Given the description of an element on the screen output the (x, y) to click on. 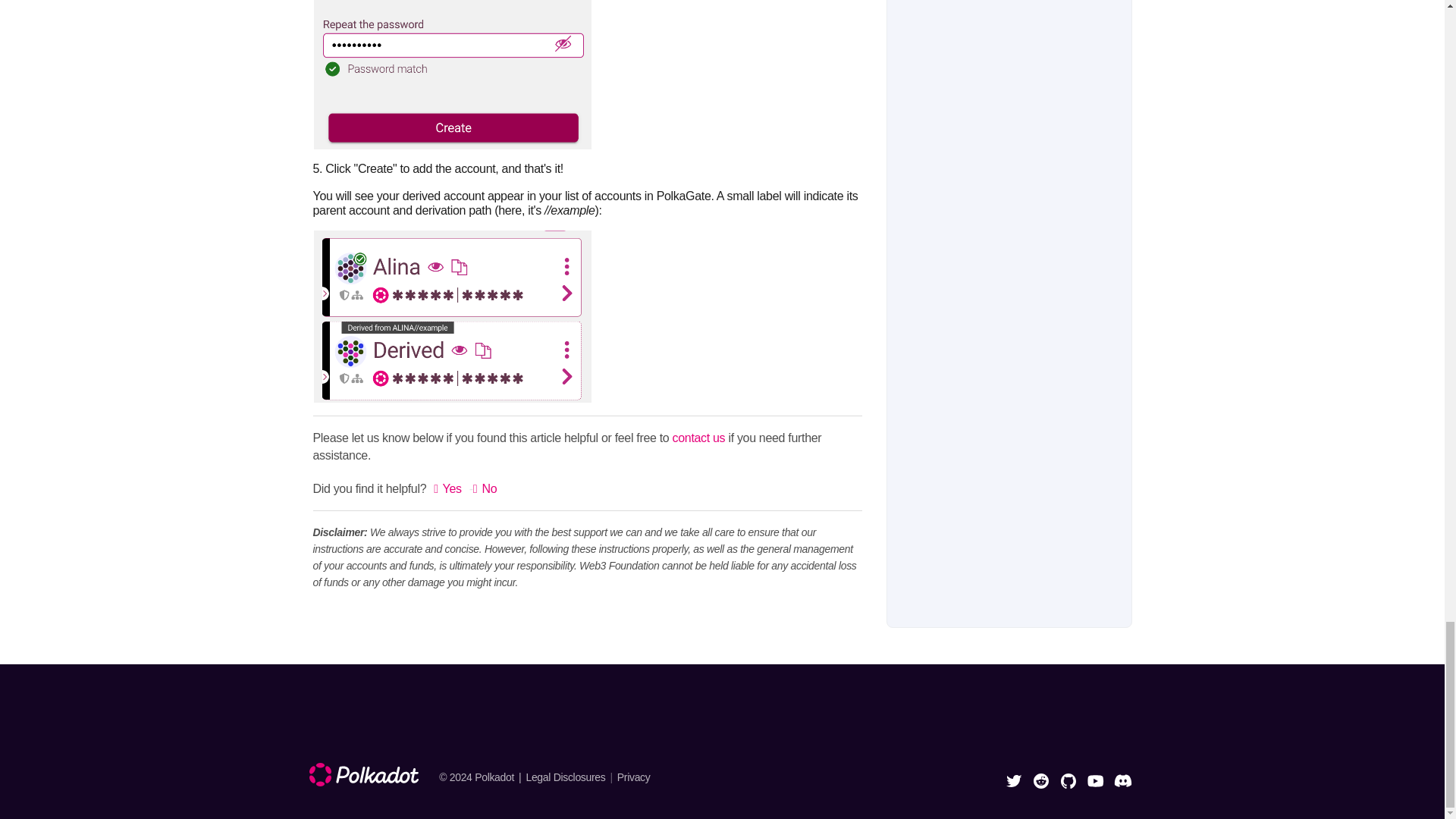
contact us (698, 437)
Legal Disclosures (570, 776)
Polkadot (493, 776)
Privacy (633, 776)
